Given the description of an element on the screen output the (x, y) to click on. 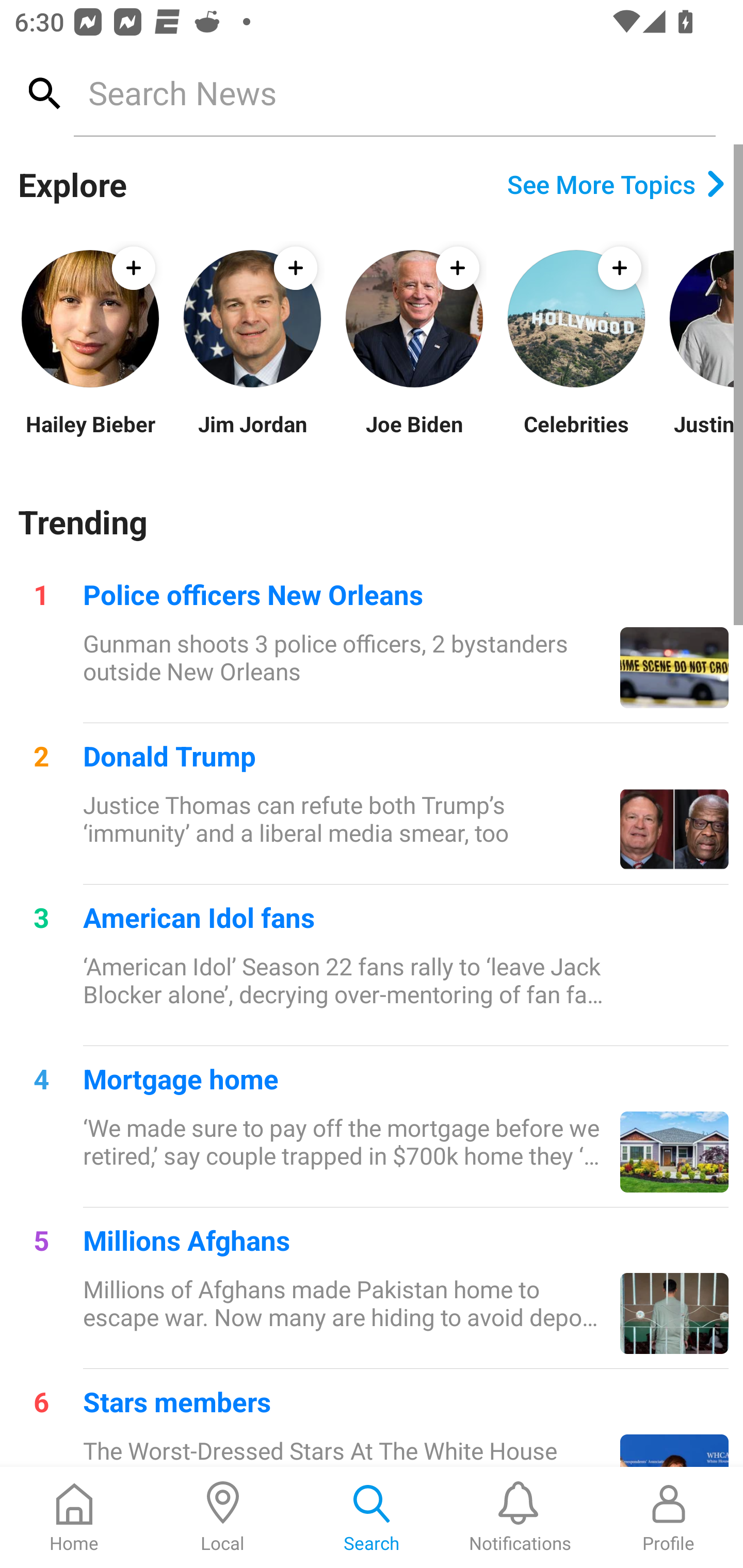
Search News (394, 92)
See More Topics (616, 183)
Hailey Bieber (89, 436)
Jim Jordan (251, 436)
Joe Biden (413, 436)
Celebrities (575, 436)
Home (74, 1517)
Local (222, 1517)
Notifications (519, 1517)
Profile (668, 1517)
